Given the description of an element on the screen output the (x, y) to click on. 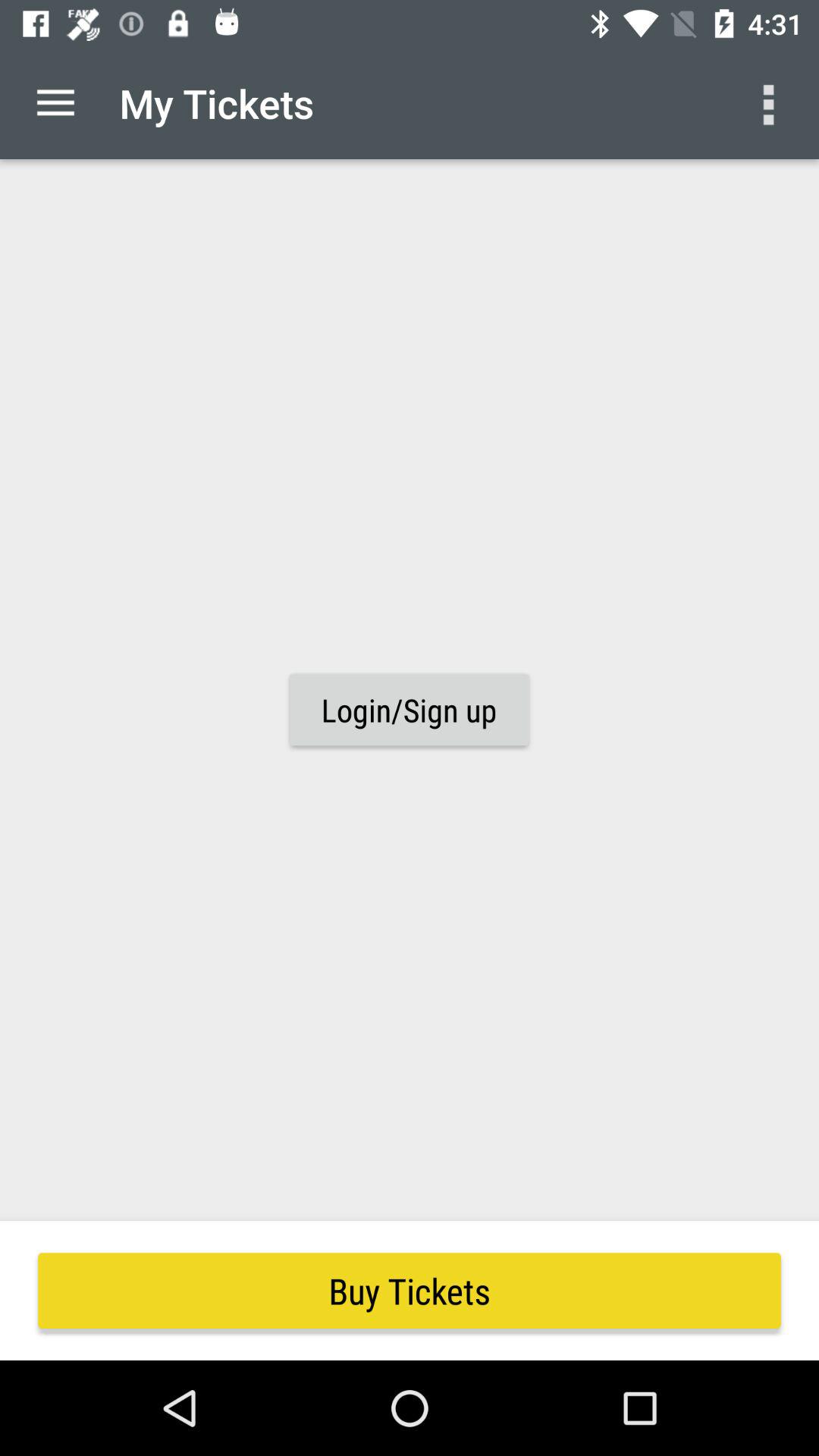
turn on icon at the center (408, 709)
